Given the description of an element on the screen output the (x, y) to click on. 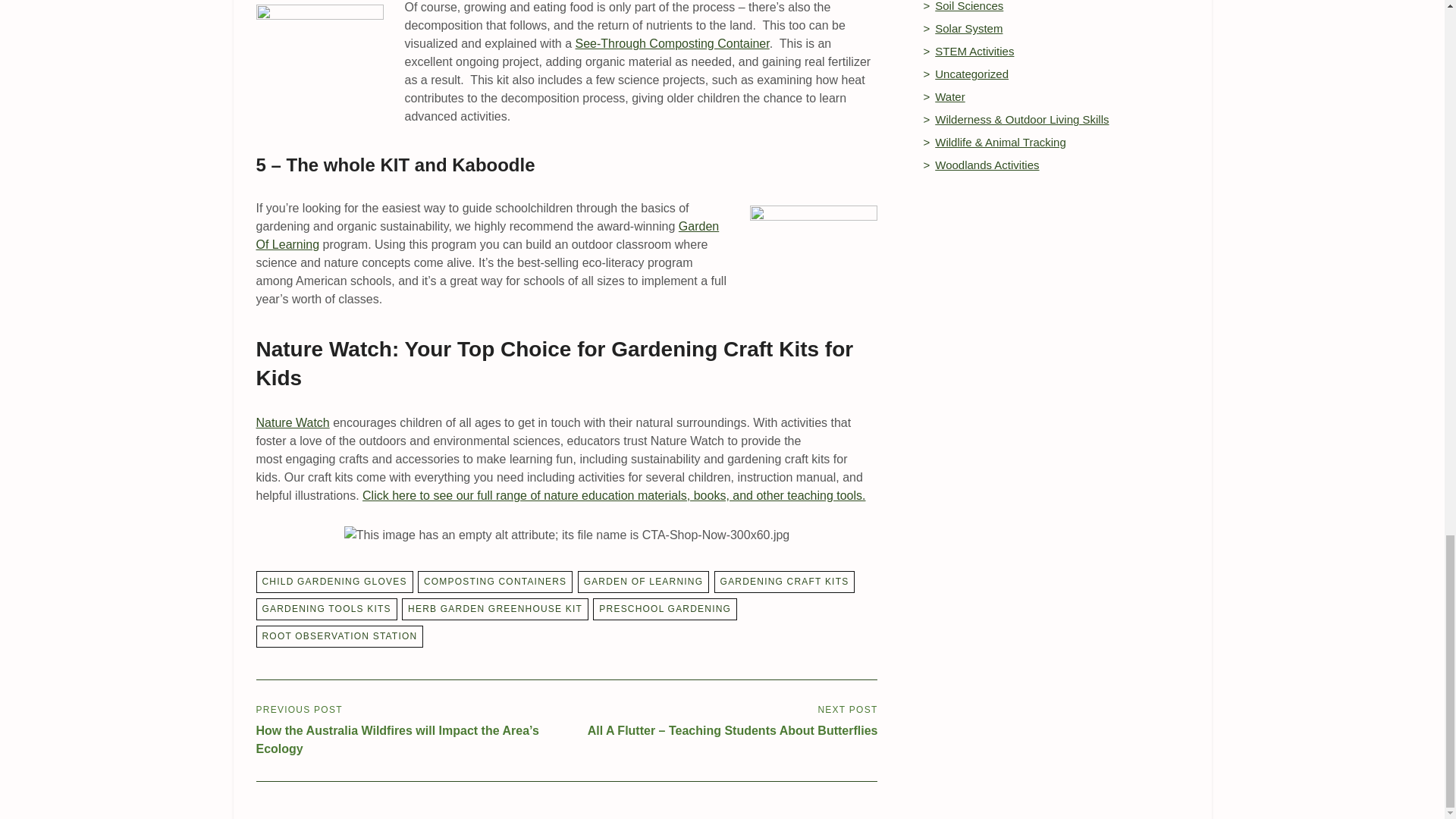
Nature Watch (293, 422)
HERB GARDEN GREENHOUSE KIT (494, 608)
GARDENING CRAFT KITS (785, 581)
CHILD GARDENING GLOVES (334, 581)
GARDEN OF LEARNING (644, 581)
PRESCHOOL GARDENING (664, 608)
See-Through Composting Container (672, 42)
GARDENING TOOLS KITS (326, 608)
COMPOSTING CONTAINERS (494, 581)
